Given the description of an element on the screen output the (x, y) to click on. 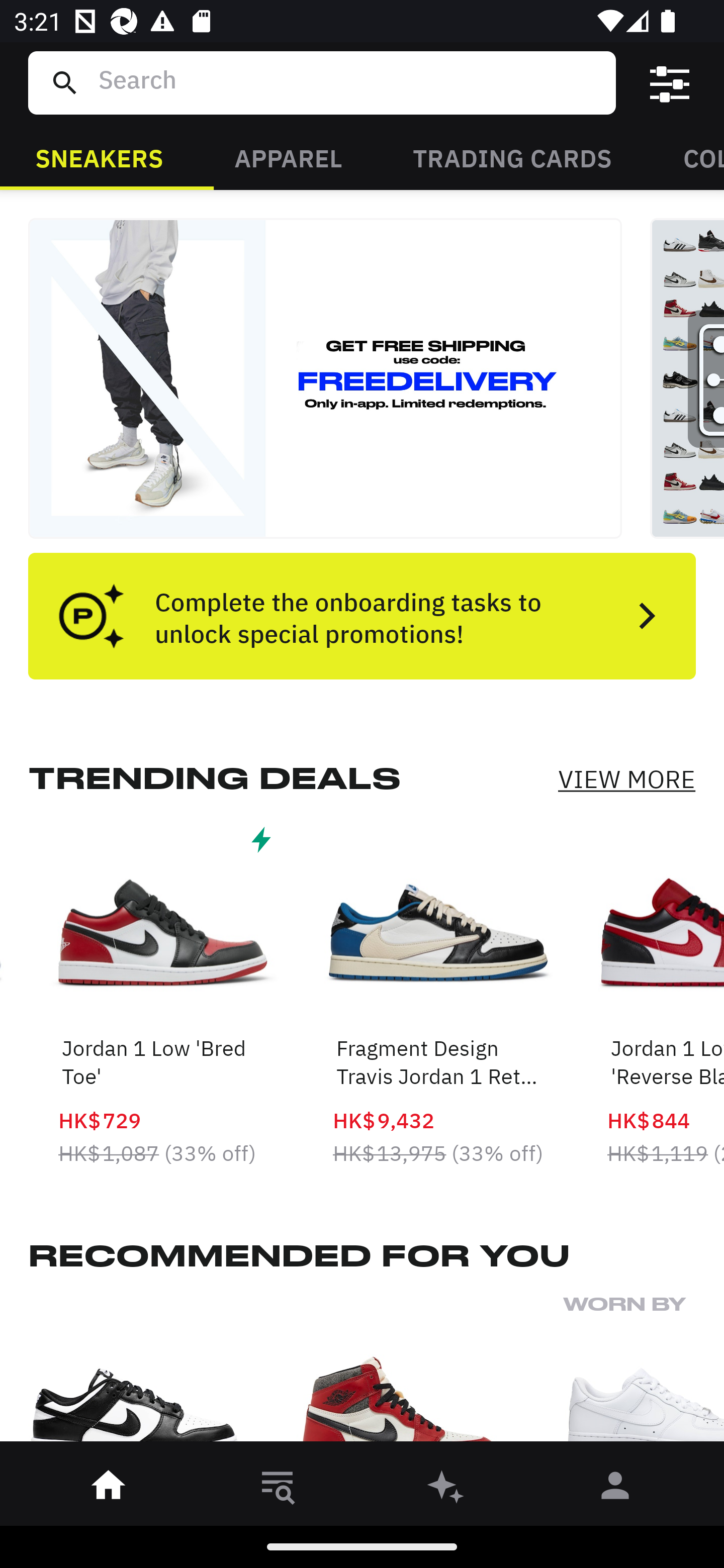
Search (349, 82)
 (669, 82)
SNEAKERS (99, 156)
APPAREL (287, 156)
TRADING CARDS (512, 156)
VIEW MORE (626, 779)
WORN BY (643, 1373)
󰋜 (108, 1488)
󱎸 (277, 1488)
󰫢 (446, 1488)
󰀄 (615, 1488)
